Given the description of an element on the screen output the (x, y) to click on. 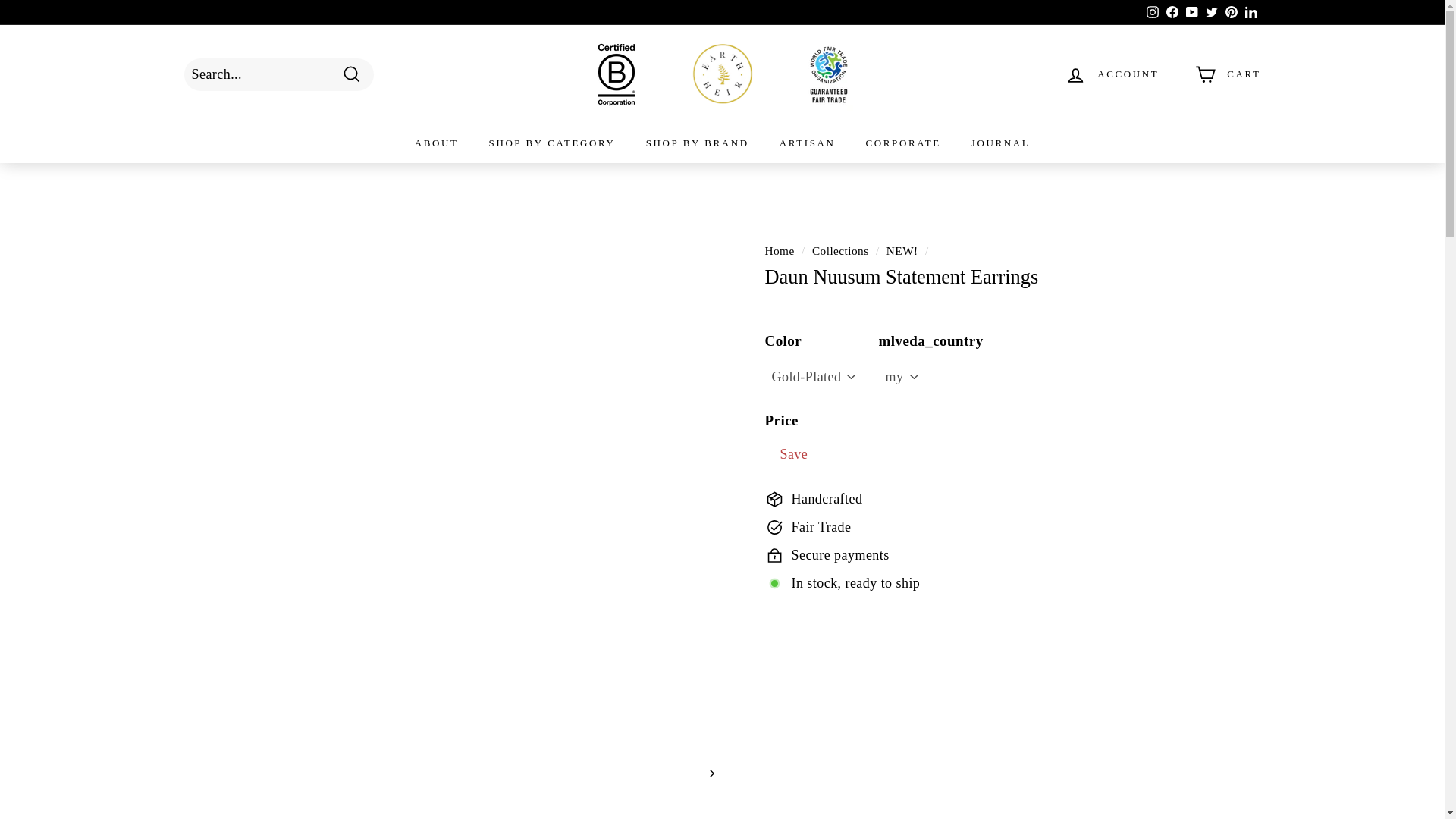
ABOUT (436, 142)
SHOP BY CATEGORY (552, 142)
Back to the frontpage (778, 250)
ACCOUNT (1112, 73)
